Given the description of an element on the screen output the (x, y) to click on. 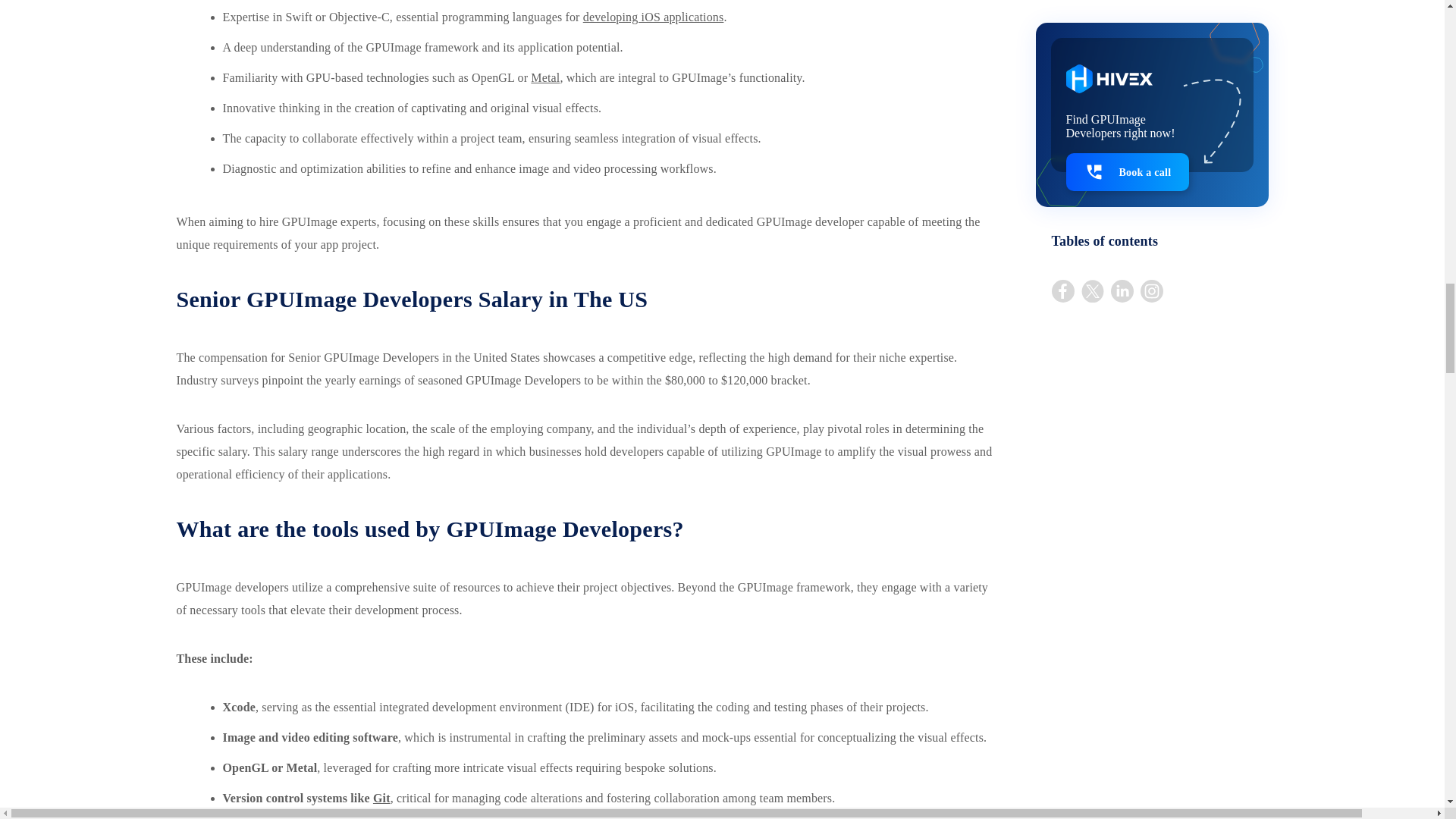
Git (381, 797)
Metal (545, 77)
developing iOS applications (653, 16)
